Given the description of an element on the screen output the (x, y) to click on. 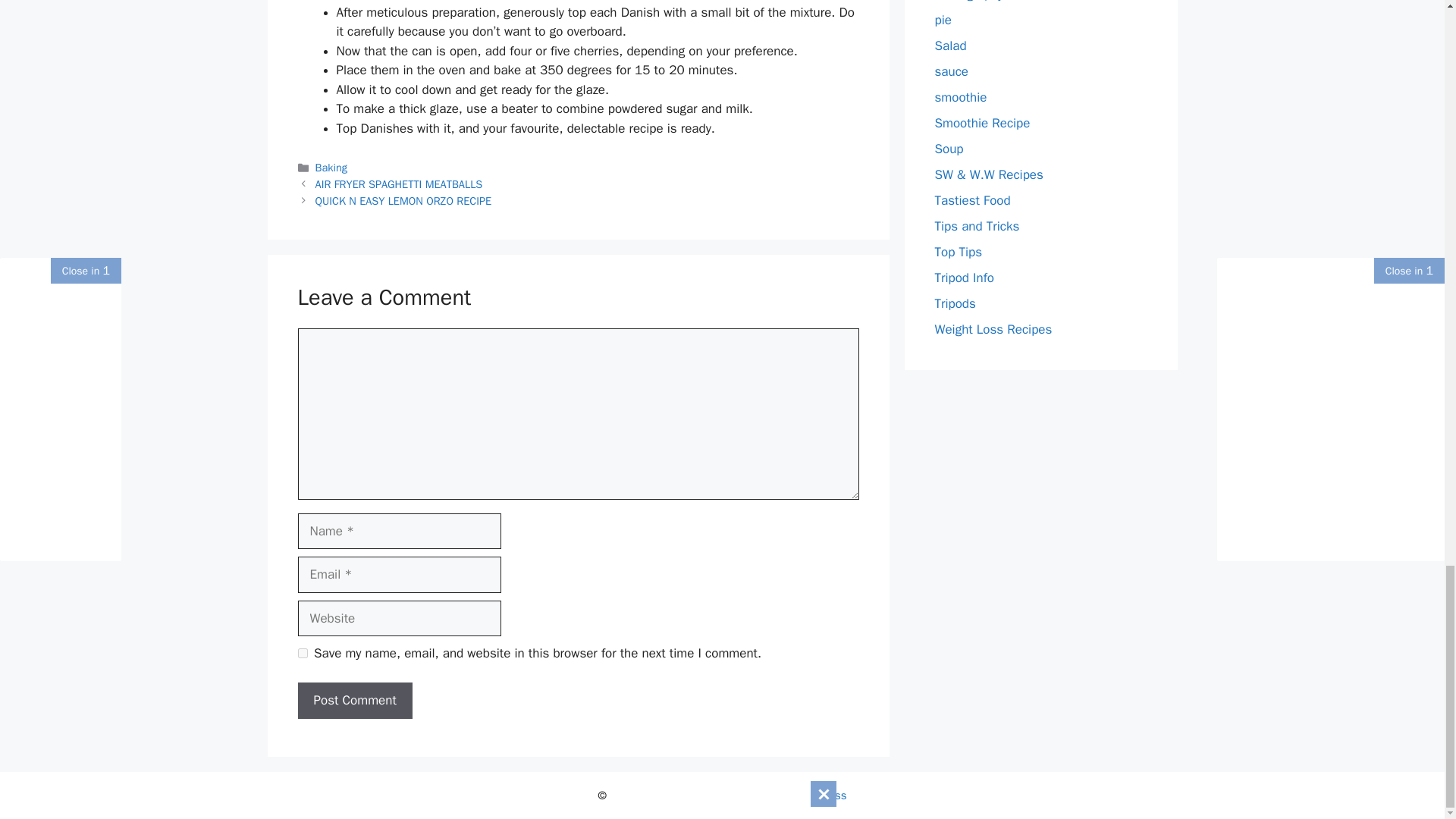
Post Comment (354, 700)
QUICK N EASY LEMON ORZO RECIPE (403, 201)
Baking (331, 167)
AIR FRYER SPAGHETTI MEATBALLS (399, 183)
Post Comment (354, 700)
yes (302, 653)
